Given the description of an element on the screen output the (x, y) to click on. 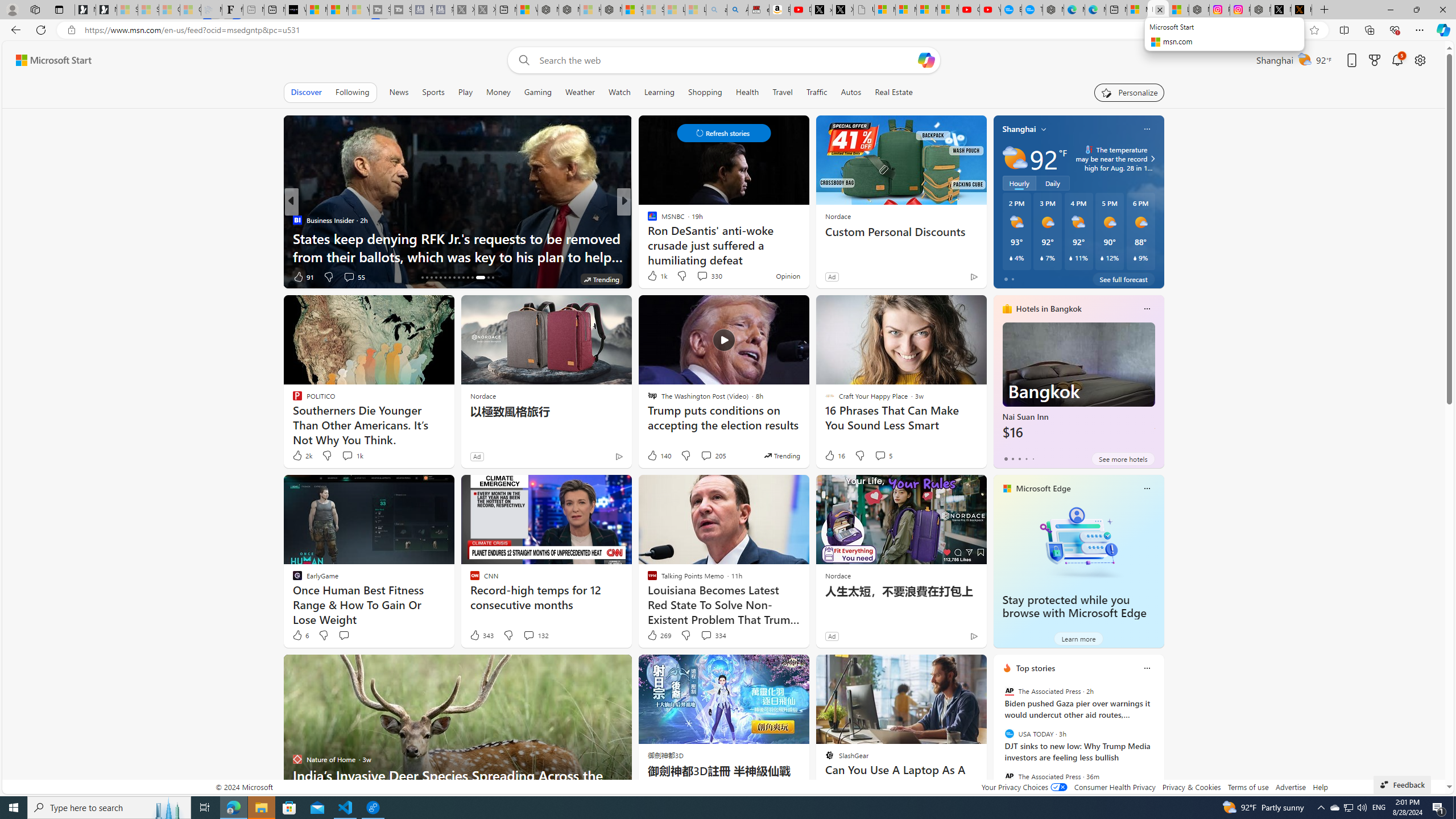
Health (746, 92)
You're following FOX News (253, 279)
USA TODAY (1008, 733)
View comments 334 Comment (705, 635)
View comments 152 Comment (6, 276)
Skip to content (49, 59)
140 Like (658, 455)
View comments 1k Comment (352, 455)
